Given the description of an element on the screen output the (x, y) to click on. 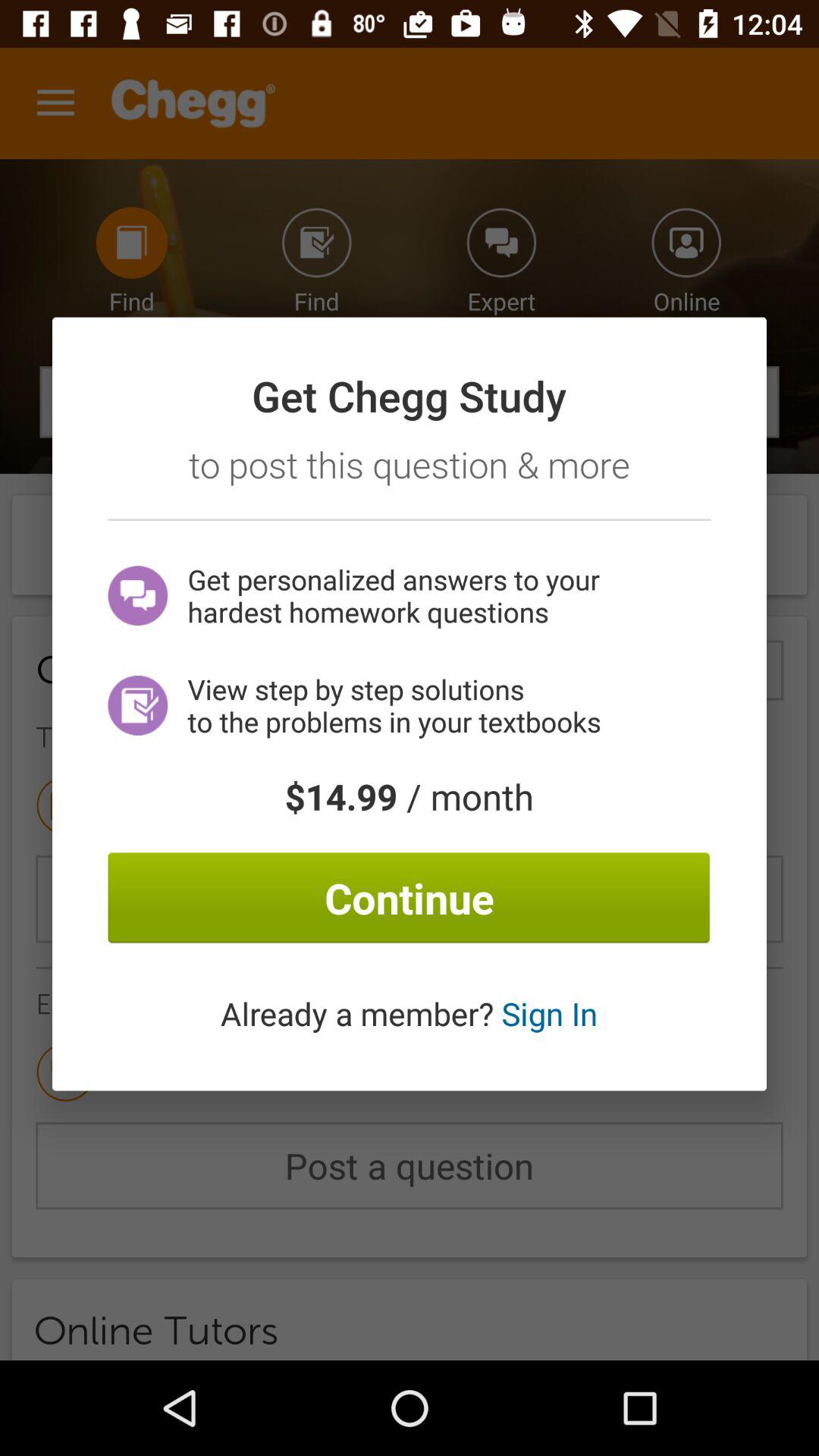
choose icon below continue icon (408, 1013)
